Given the description of an element on the screen output the (x, y) to click on. 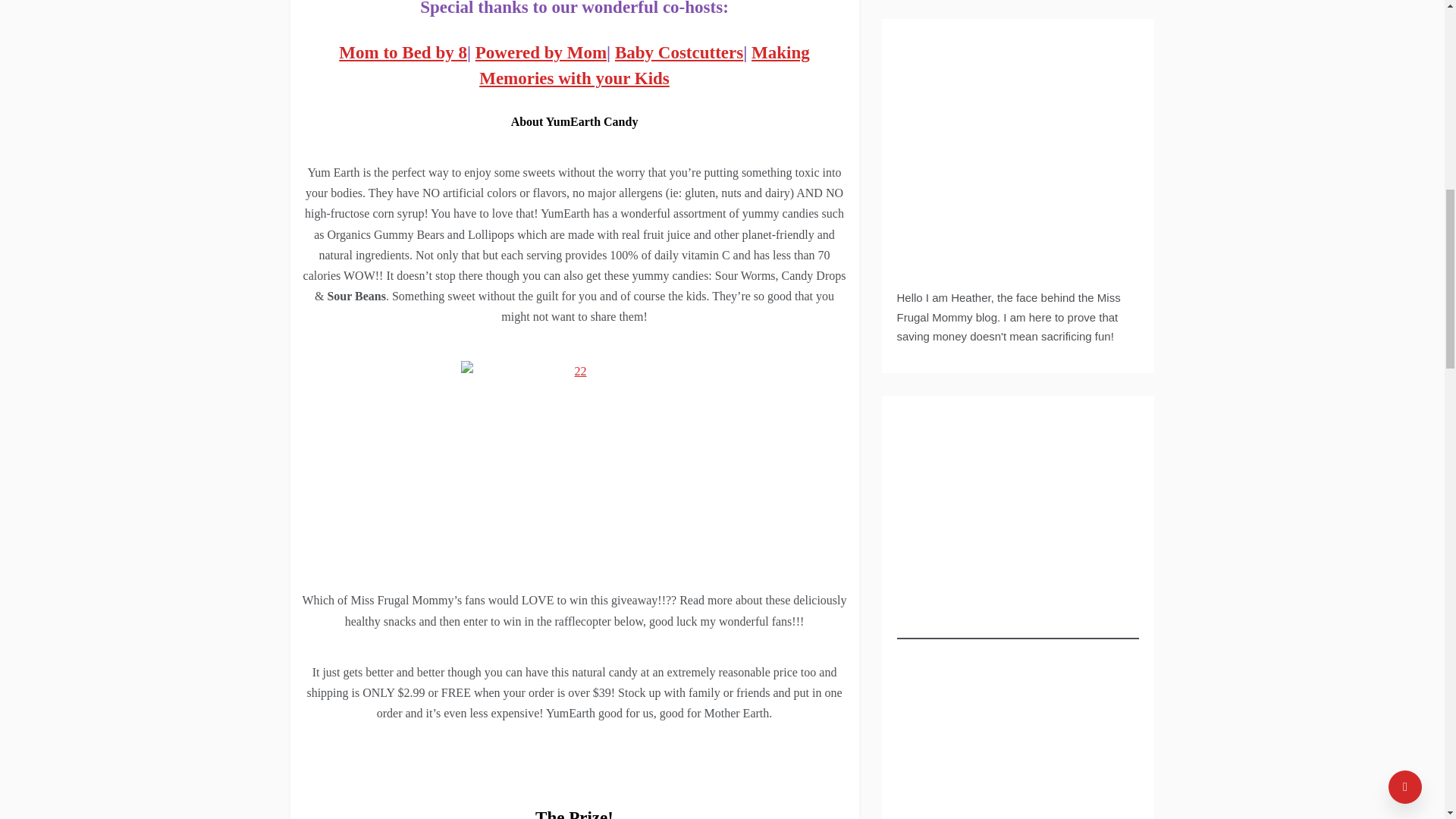
Baby Costcutters (678, 52)
Mom to Bed by 8 (403, 52)
Powered by Mom (541, 52)
Making Memories with your Kids (644, 65)
